Given the description of an element on the screen output the (x, y) to click on. 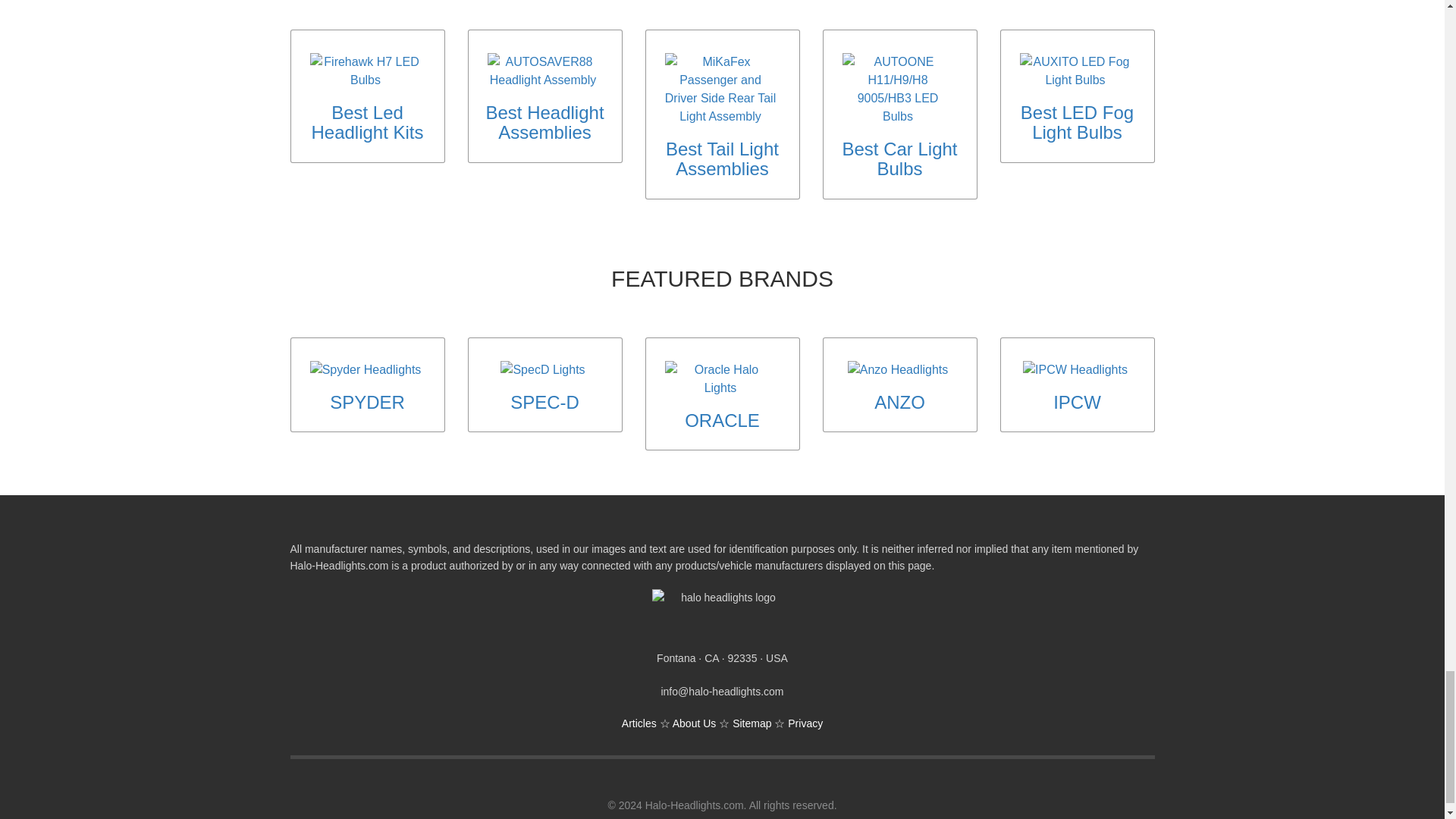
AUXITO LED Fog Light Bulbs (1075, 71)
IPCW Headlights (1074, 370)
AUTOSAVER88 Headlight Assembly (542, 71)
AUTOONE LED Bulbs (897, 89)
Anzo Headlights (898, 370)
Oracle Halo Lights (719, 379)
SpecD Lights (542, 370)
spyder headlihgts (366, 370)
Firehawk H7 LED Bulbs (364, 71)
MiKaFex Passenger and Driver Side Rear Tail Light Assembly (719, 89)
